Given the description of an element on the screen output the (x, y) to click on. 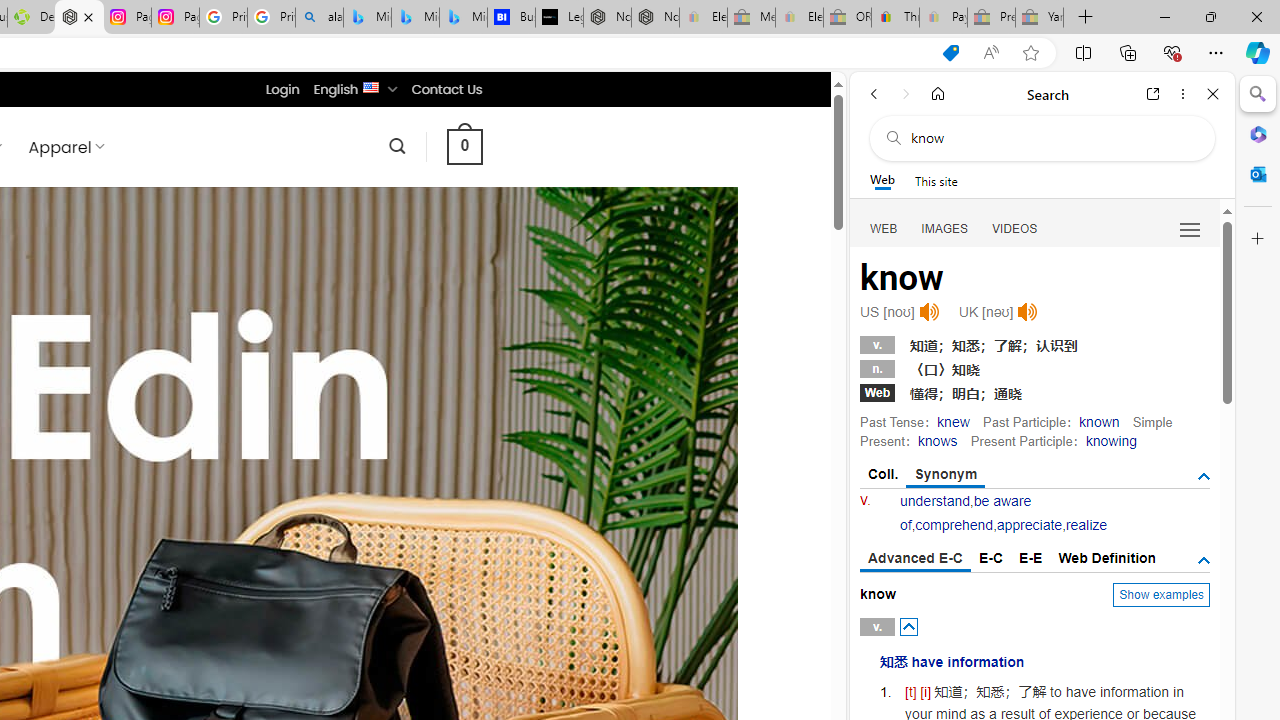
WEB (884, 228)
knew (953, 421)
  0   (464, 146)
Click to listen (1027, 312)
known (1099, 421)
E-E (1030, 557)
E-C (991, 557)
Web Definition (1106, 557)
